Given the description of an element on the screen output the (x, y) to click on. 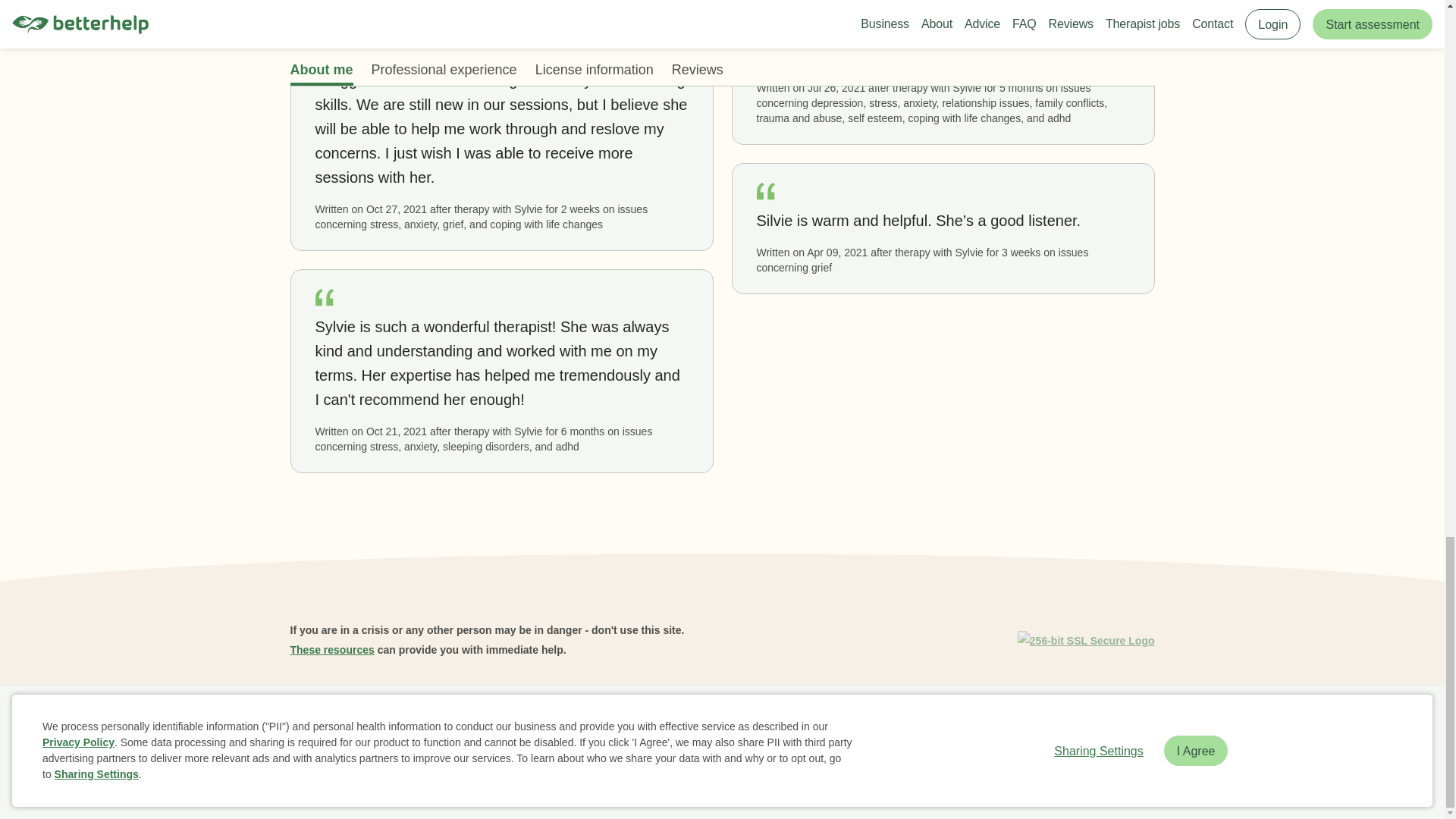
Advice (564, 721)
About (419, 721)
Careers (618, 721)
Contact (857, 721)
For Therapists (928, 721)
Find a Therapist (692, 721)
Business (365, 721)
FAQ (462, 721)
Reviews (510, 721)
Home (311, 721)
